Given the description of an element on the screen output the (x, y) to click on. 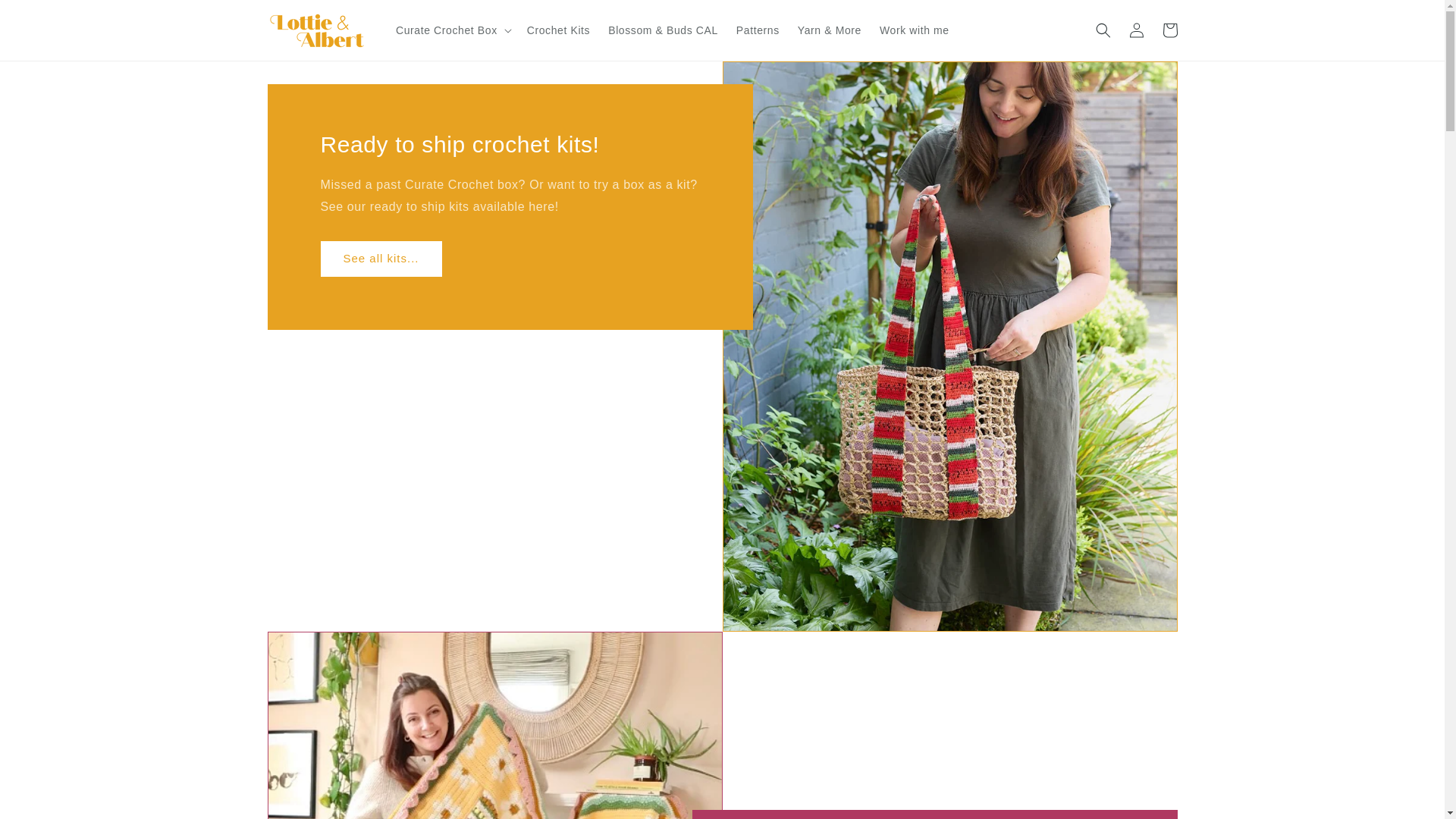
Skip to content (45, 17)
Crochet Kits (558, 29)
Patterns (757, 29)
Log in (1136, 29)
See all kits... (380, 258)
Cart (1169, 29)
Work with me (914, 29)
